Given the description of an element on the screen output the (x, y) to click on. 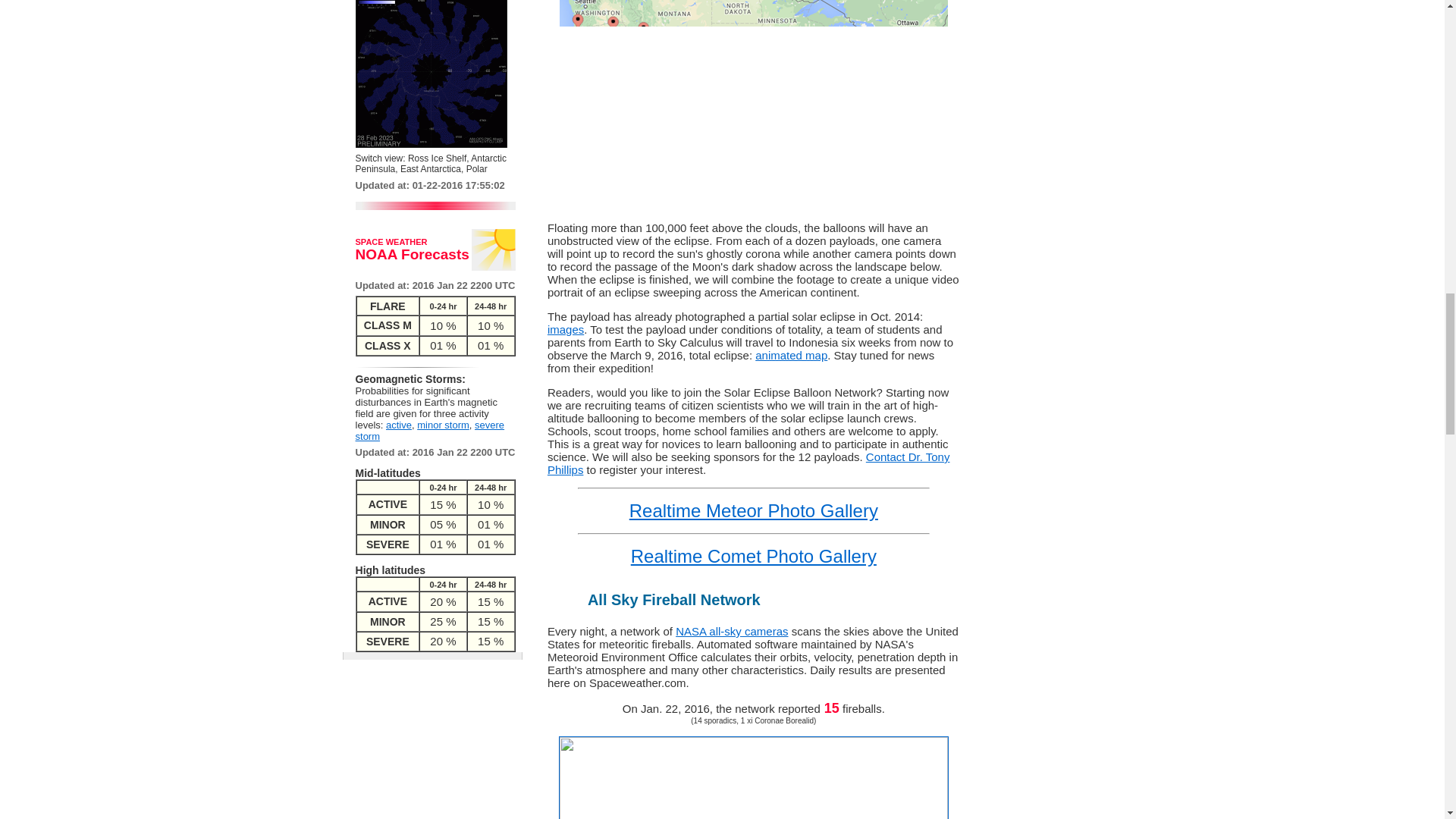
Antarctic Peninsula (430, 163)
severe storm (430, 430)
active (398, 424)
Ross Ice Shelf (436, 158)
minor storm (442, 424)
East Antarctica (430, 168)
Polar (476, 168)
